Given the description of an element on the screen output the (x, y) to click on. 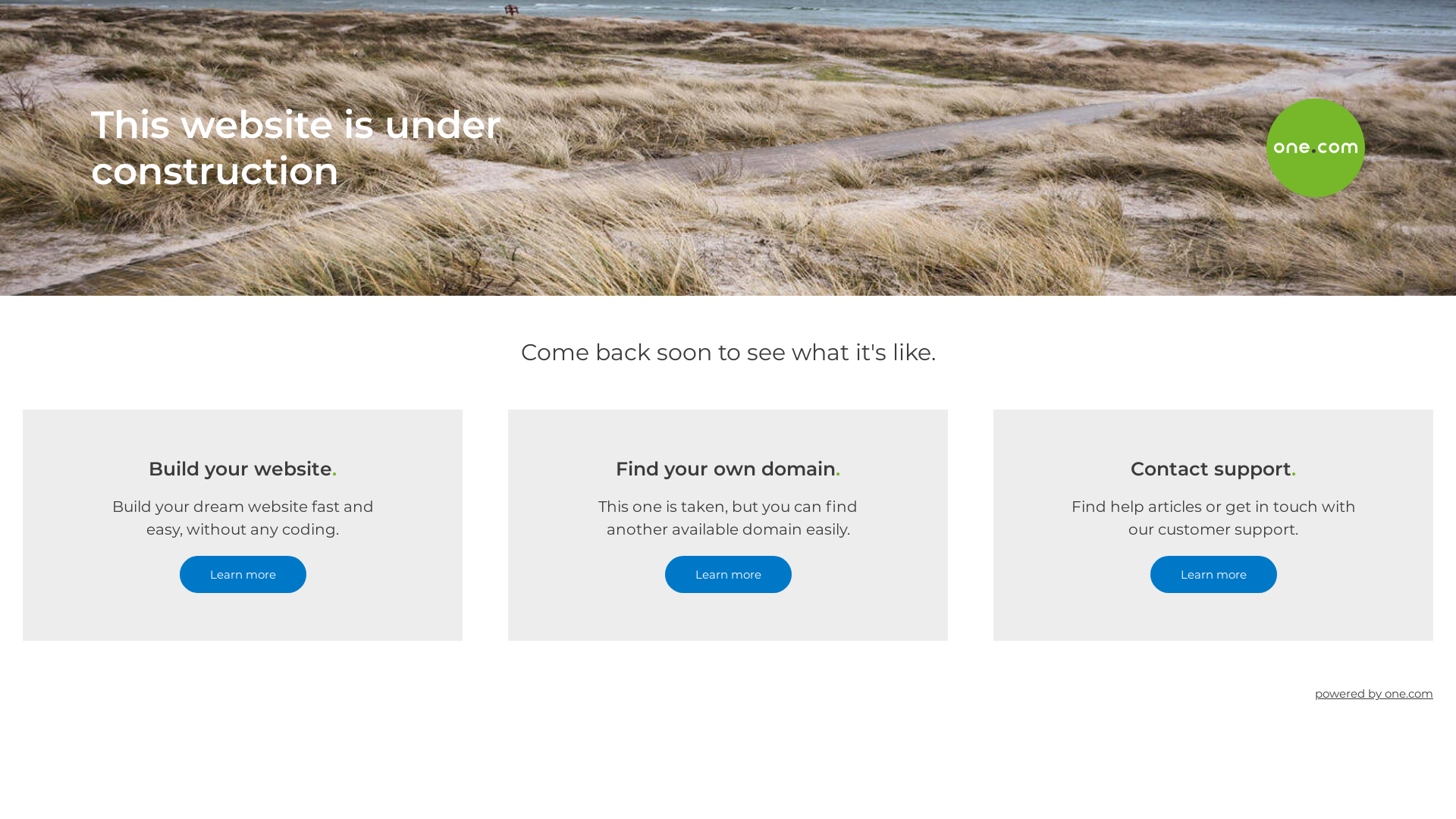
powered by one.com Element type: text (1373, 693)
Learn more Element type: text (1212, 574)
Learn more Element type: text (727, 574)
Learn more Element type: text (241, 574)
